Given the description of an element on the screen output the (x, y) to click on. 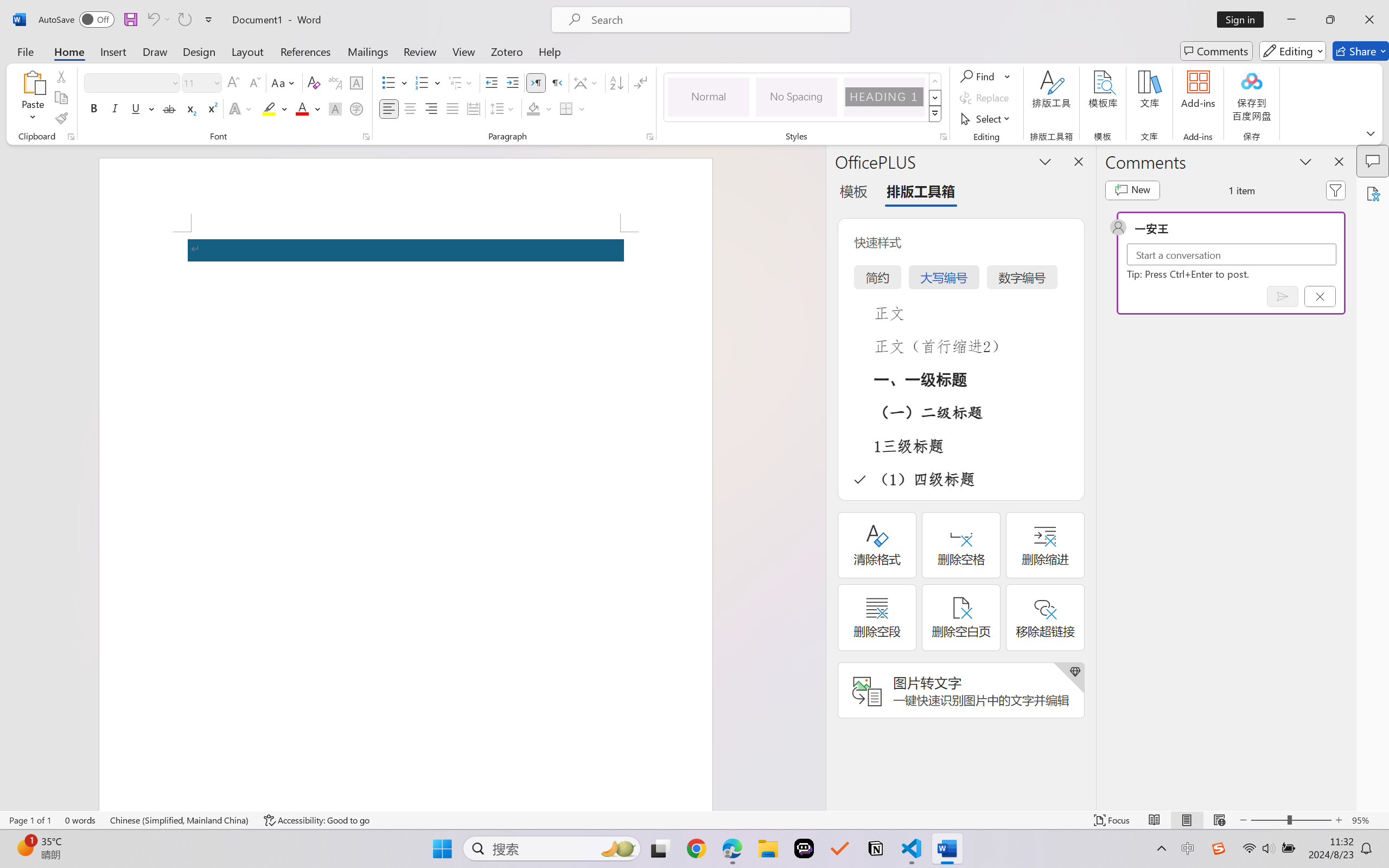
AutomationID: QuickStylesGallery (802, 97)
Sign in (1244, 19)
